Given the description of an element on the screen output the (x, y) to click on. 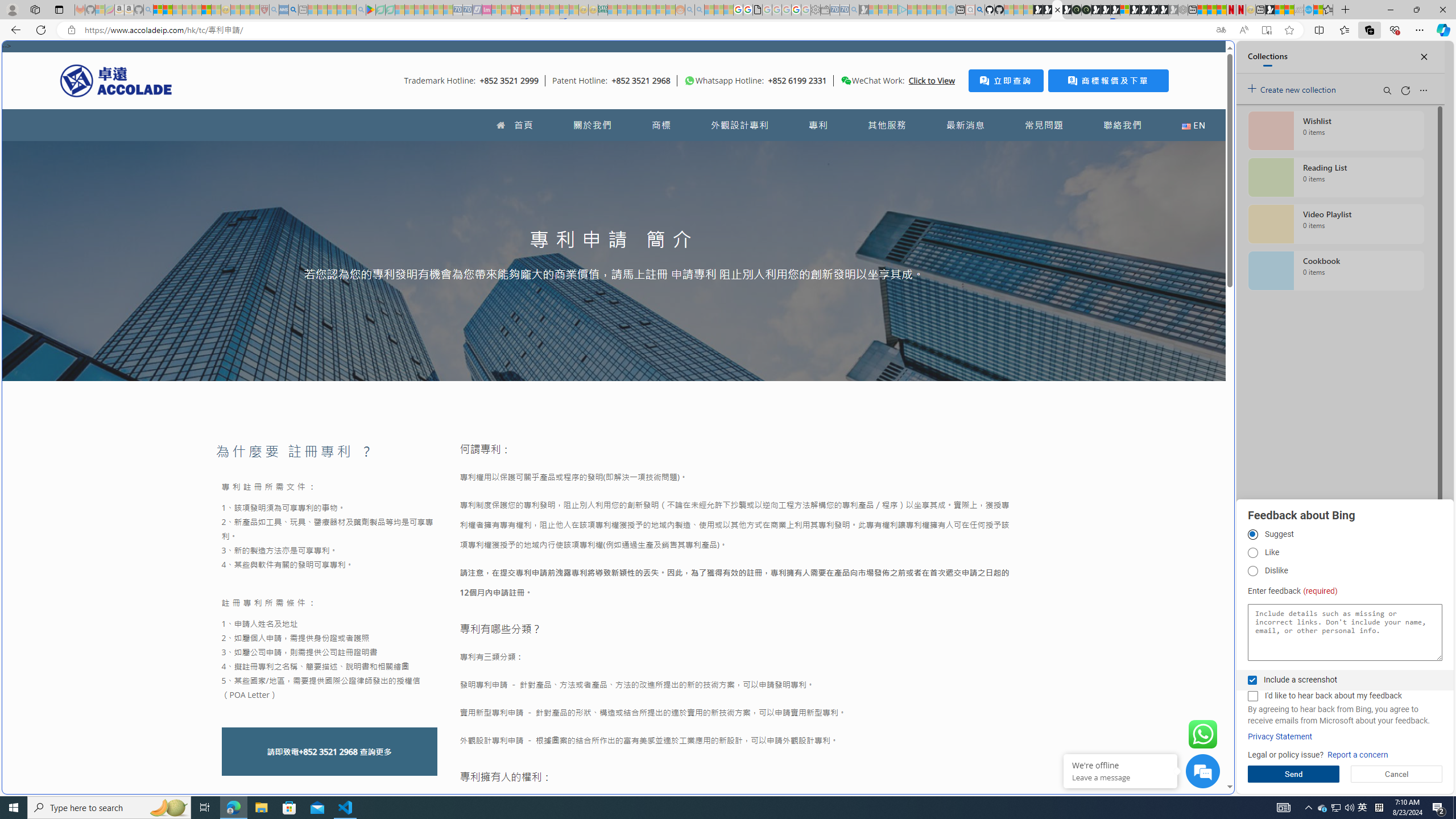
Cancel (1396, 773)
Play Zoo Boom in your browser | Games from Microsoft Start (1047, 9)
